Given the description of an element on the screen output the (x, y) to click on. 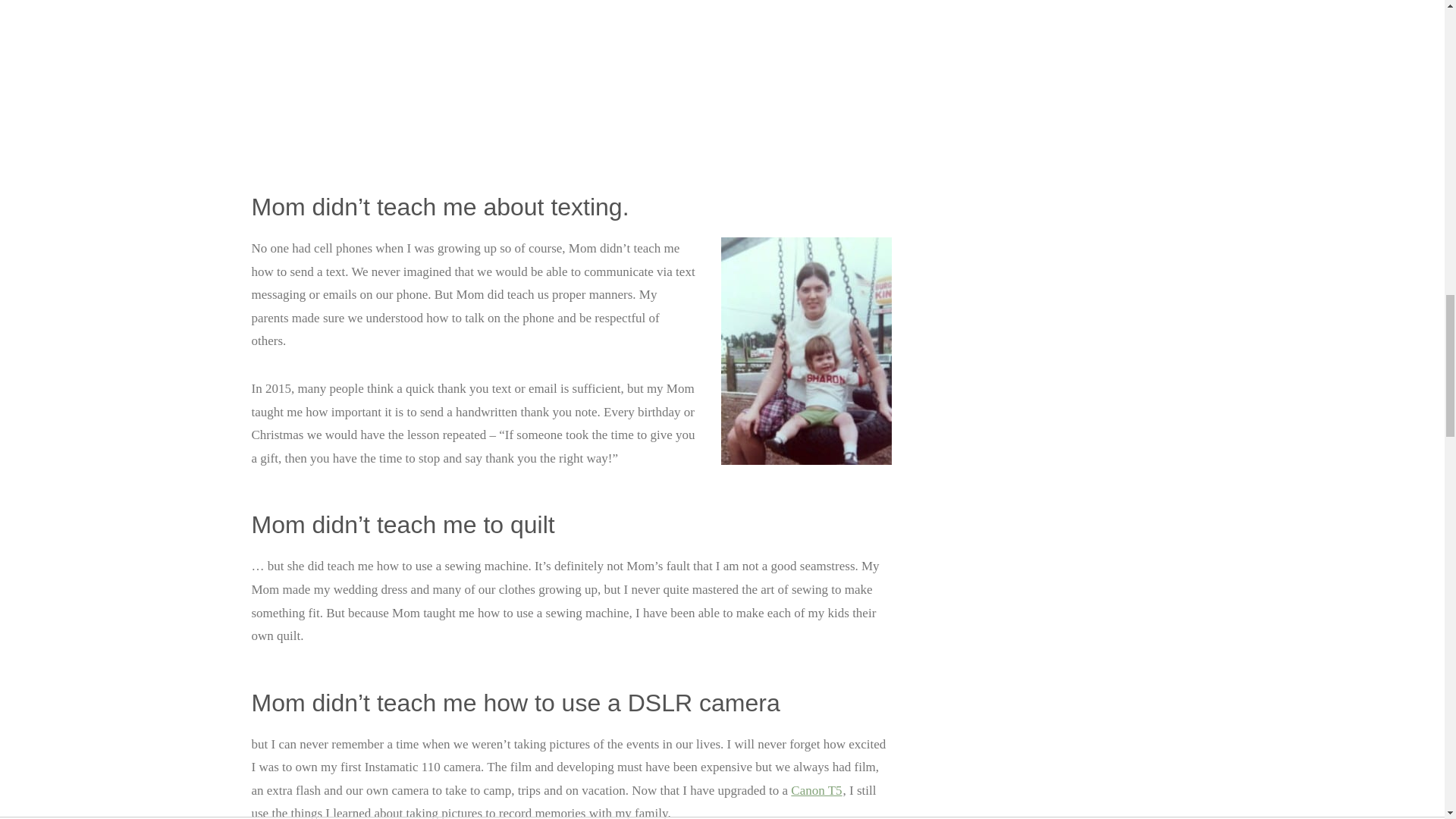
Canon T5 (815, 789)
